Given the description of an element on the screen output the (x, y) to click on. 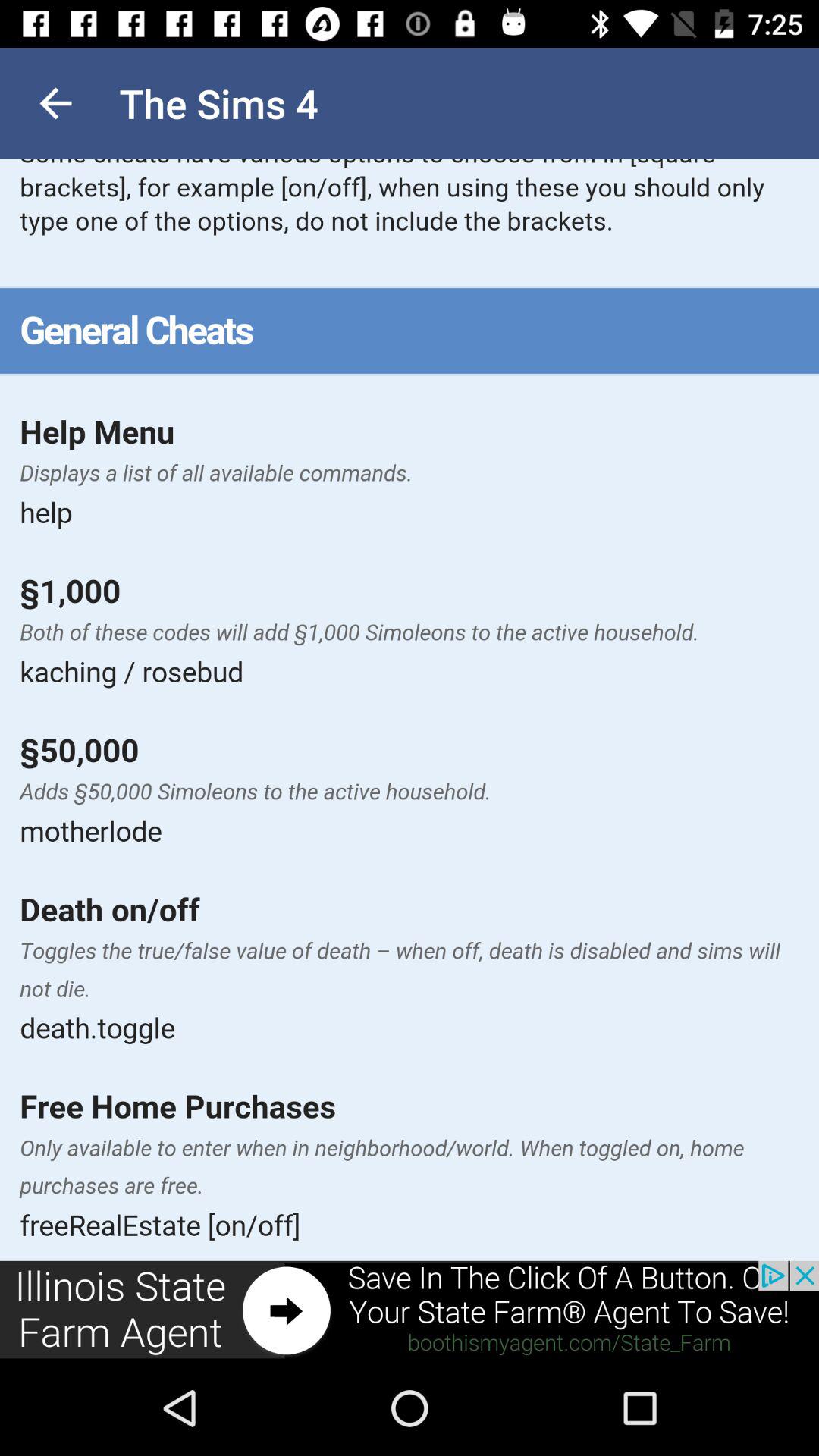
go through the details of sims 4 (409, 709)
